Given the description of an element on the screen output the (x, y) to click on. 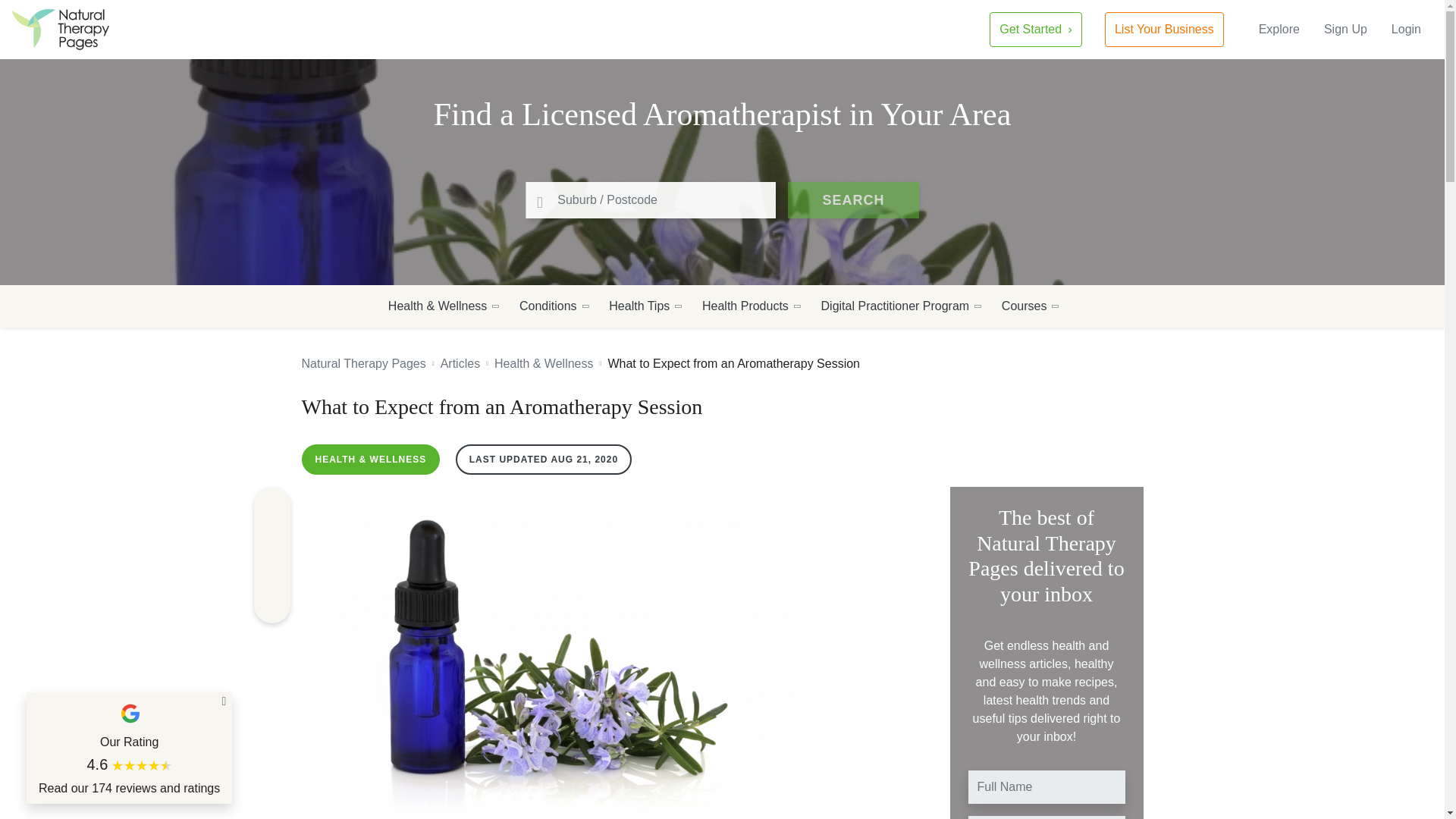
global.social.sharePinterest (271, 538)
List Your Business (1164, 28)
global.social.shareEmail (271, 604)
Explore (1278, 29)
global.social.shareTwitter (271, 571)
global.social.shareFacebook (271, 504)
Sign Up (1344, 29)
Login (1405, 29)
